Given the description of an element on the screen output the (x, y) to click on. 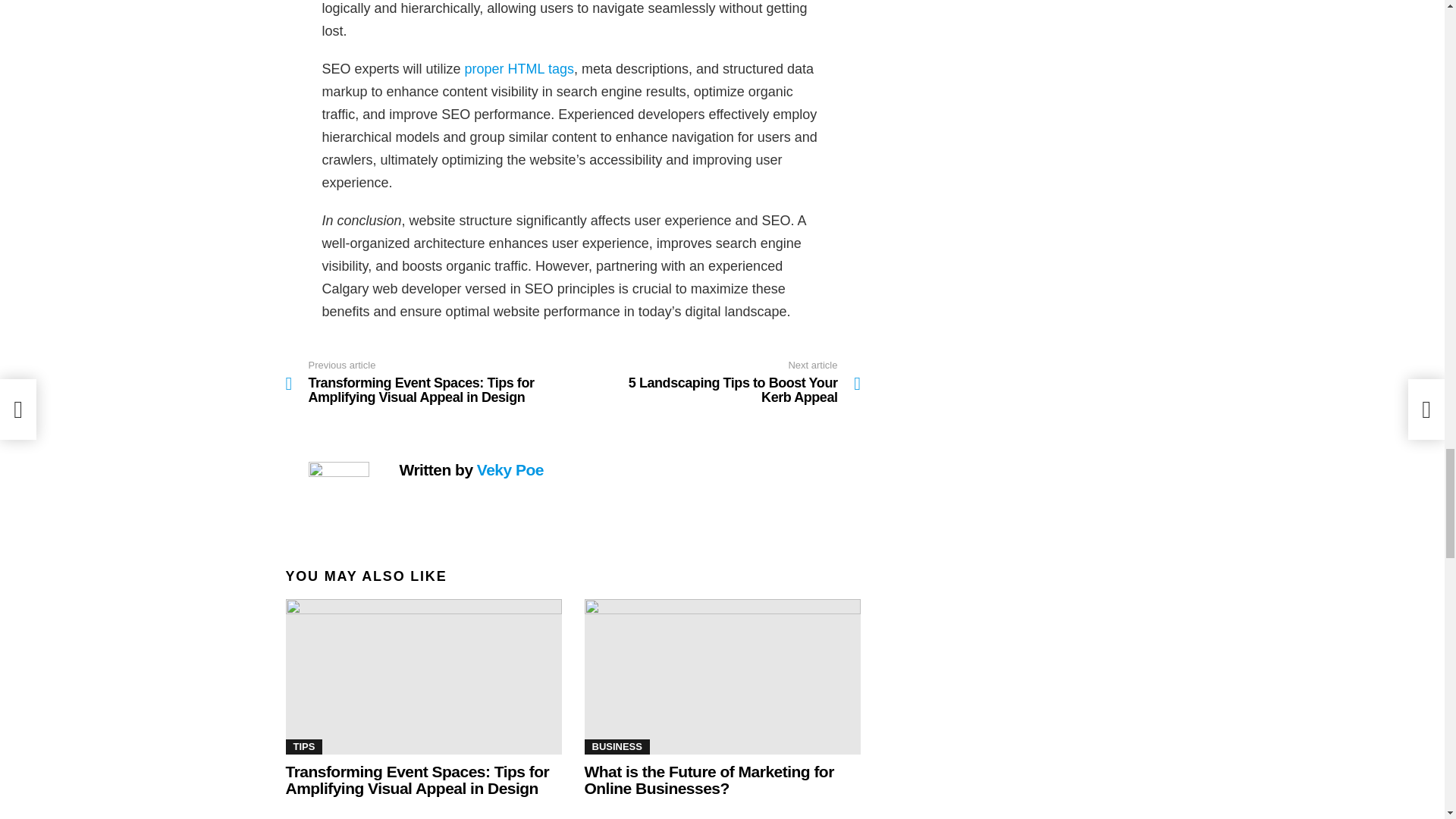
BUSINESS (616, 746)
TIPS (303, 746)
What is the Future of Marketing for Online Businesses? (707, 779)
Veky Poe (510, 469)
What is the Future of Marketing for Online Businesses? (716, 382)
proper HTML tags (721, 676)
